Given the description of an element on the screen output the (x, y) to click on. 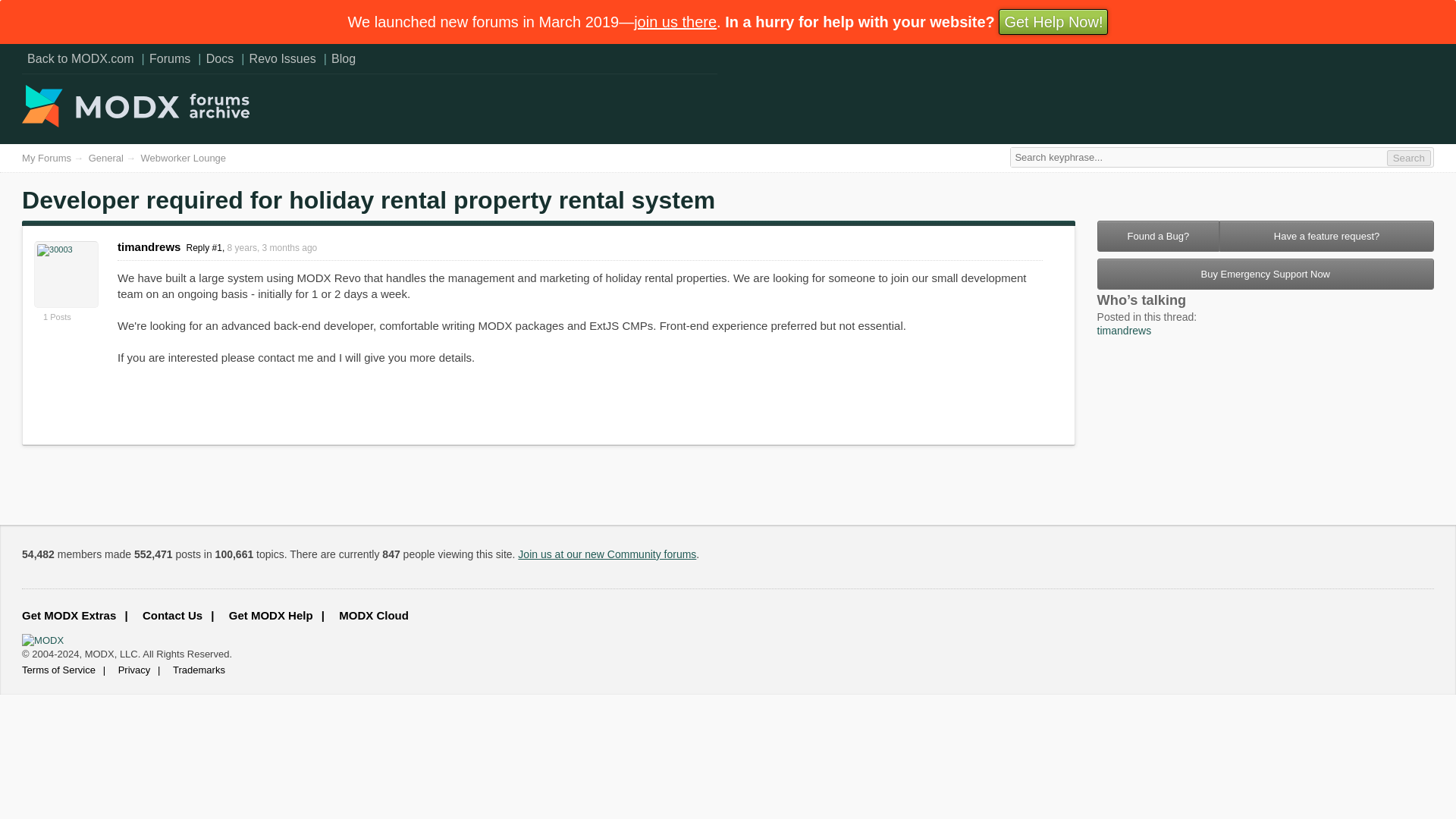
My Forums (46, 157)
Forums (170, 58)
join us there (674, 21)
Search (1409, 157)
Terms of Service (64, 670)
Get MODX Help (272, 615)
Buy Emergency Support Now (1265, 273)
Have a feature request? (1327, 235)
May 27, 2016, 02:57 AM (272, 247)
My Forums (46, 157)
